Given the description of an element on the screen output the (x, y) to click on. 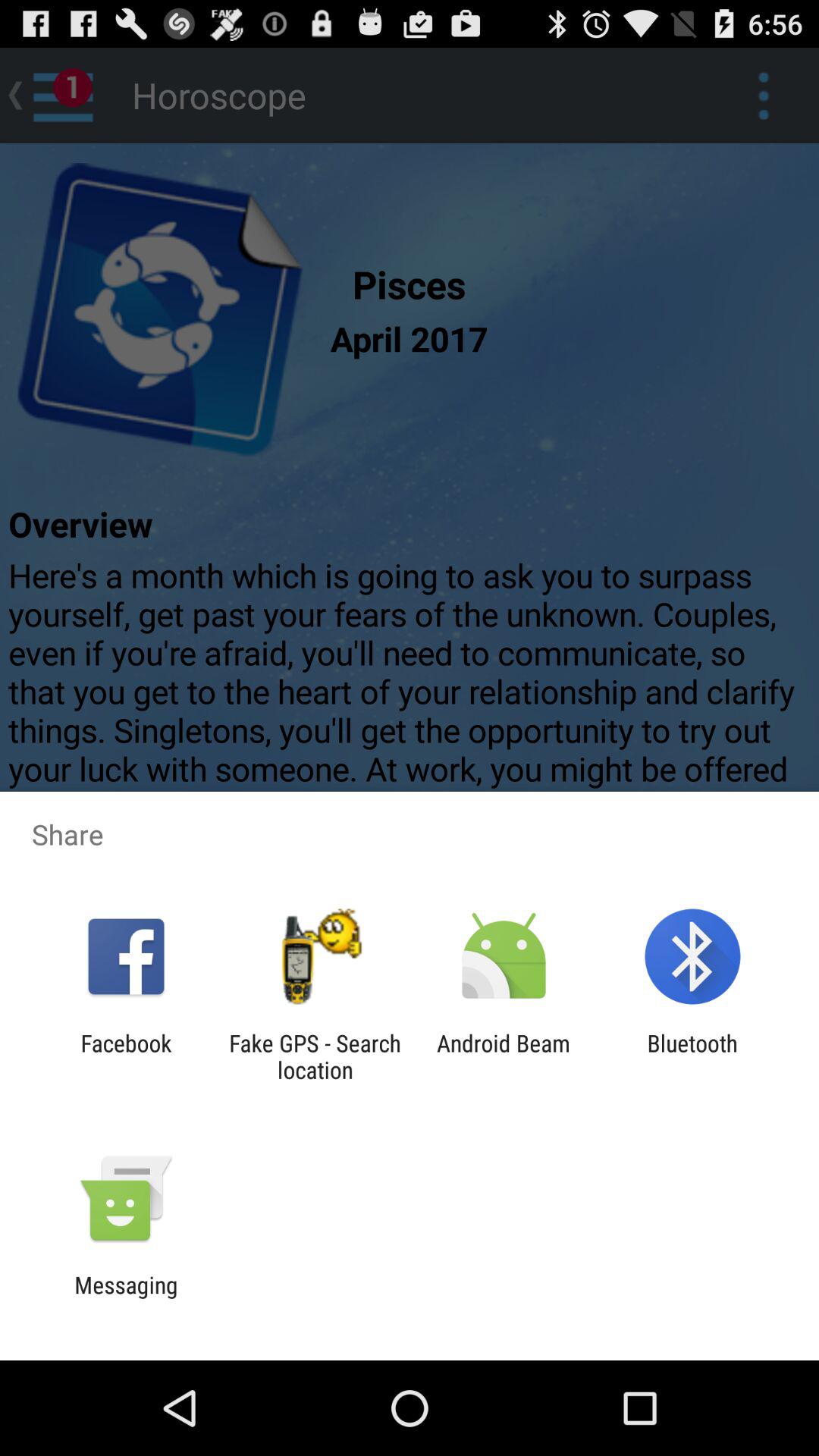
turn off app to the left of bluetooth item (503, 1056)
